Given the description of an element on the screen output the (x, y) to click on. 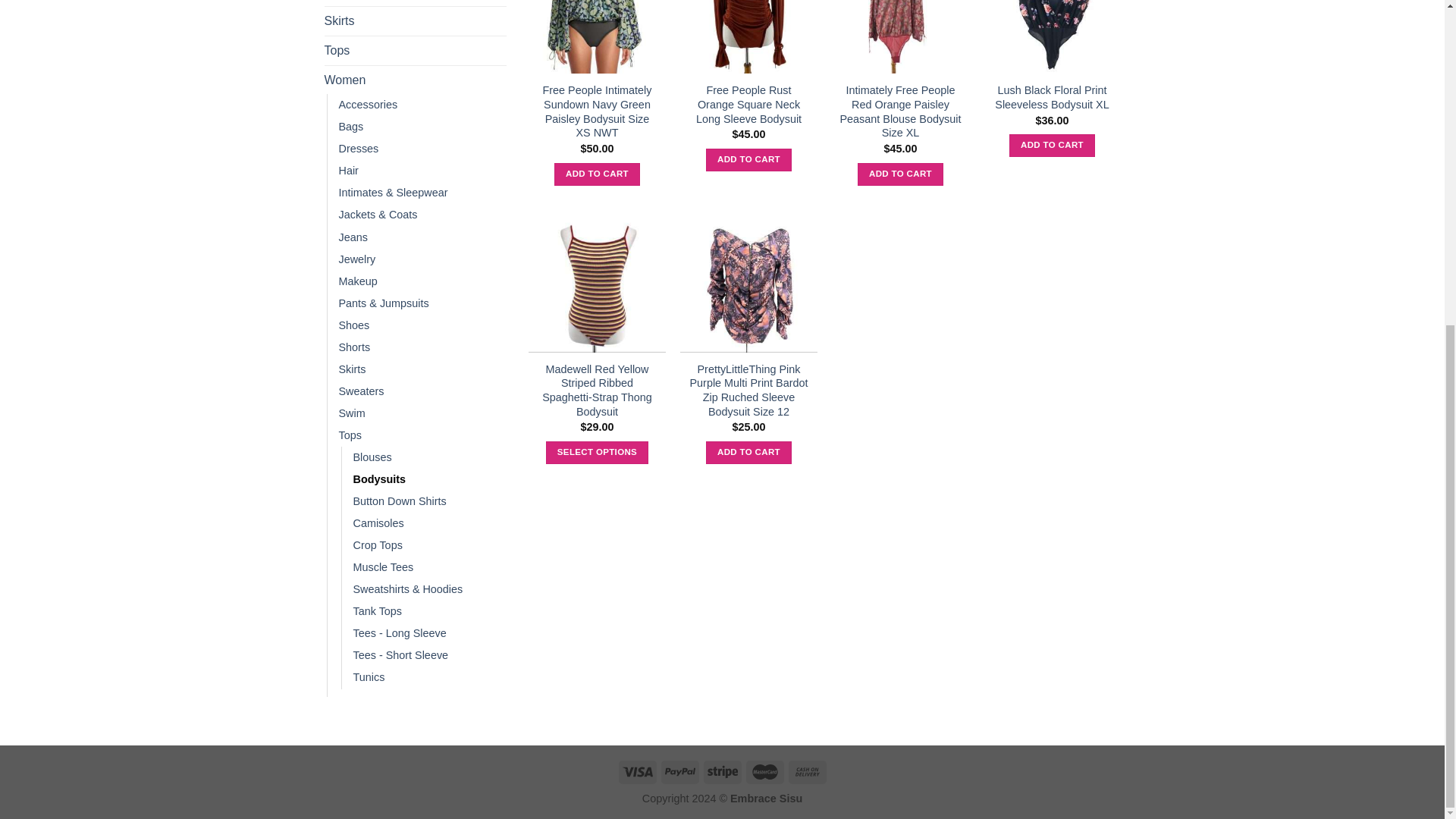
Skirts (415, 21)
Bags (349, 127)
Women (415, 80)
Hair (347, 170)
Dresses (357, 148)
Jeans (351, 237)
Tops (415, 50)
Pets (415, 3)
Accessories (367, 105)
